Given the description of an element on the screen output the (x, y) to click on. 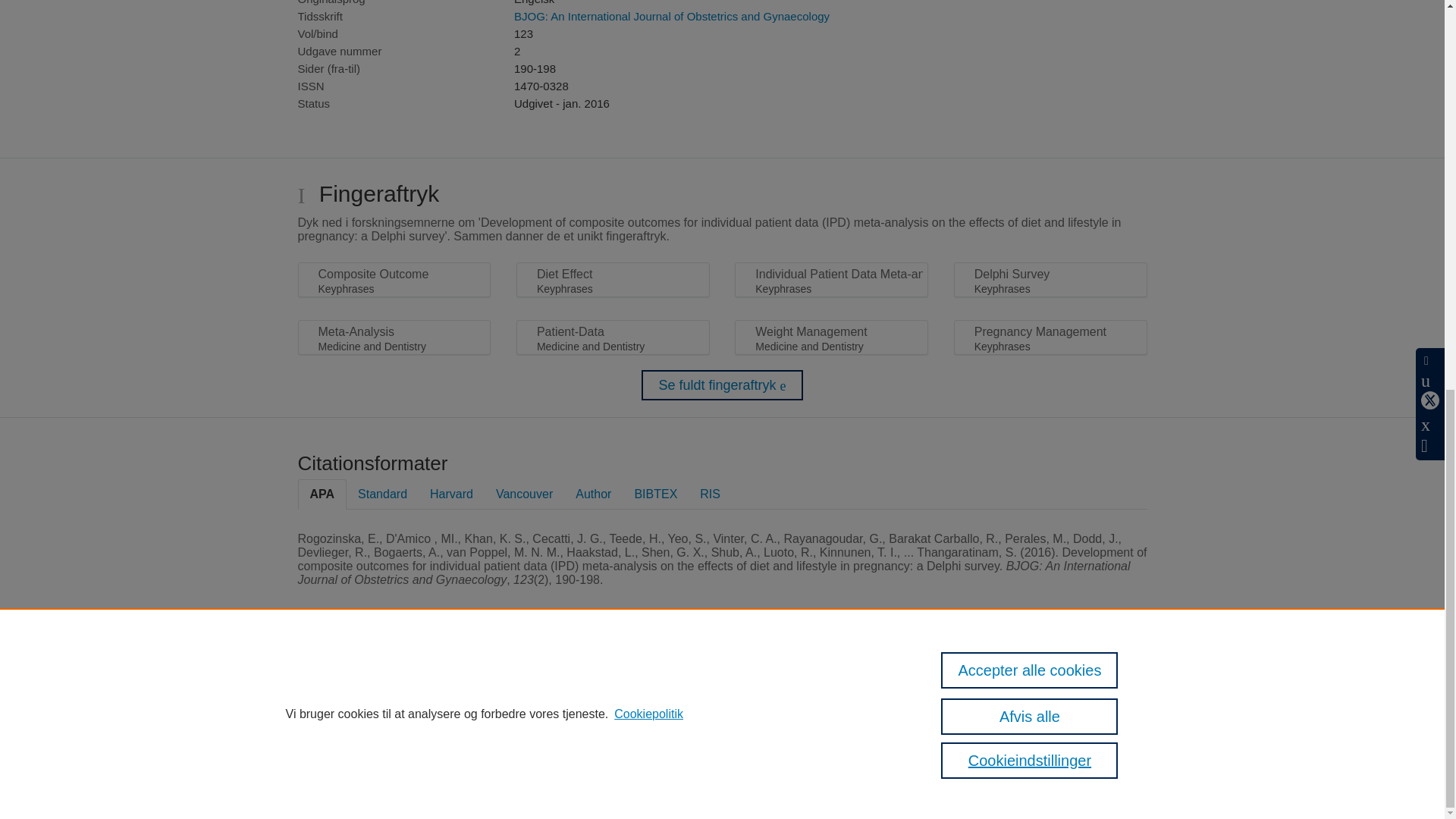
brug af cookies (729, 754)
Pure (490, 685)
BJOG: An International Journal of Obstetrics and Gynaecology (671, 15)
Elsevier B.V. (673, 706)
Cookieindstillinger (476, 781)
Scopus (522, 685)
Se fuldt fingeraftryk (722, 385)
